Given the description of an element on the screen output the (x, y) to click on. 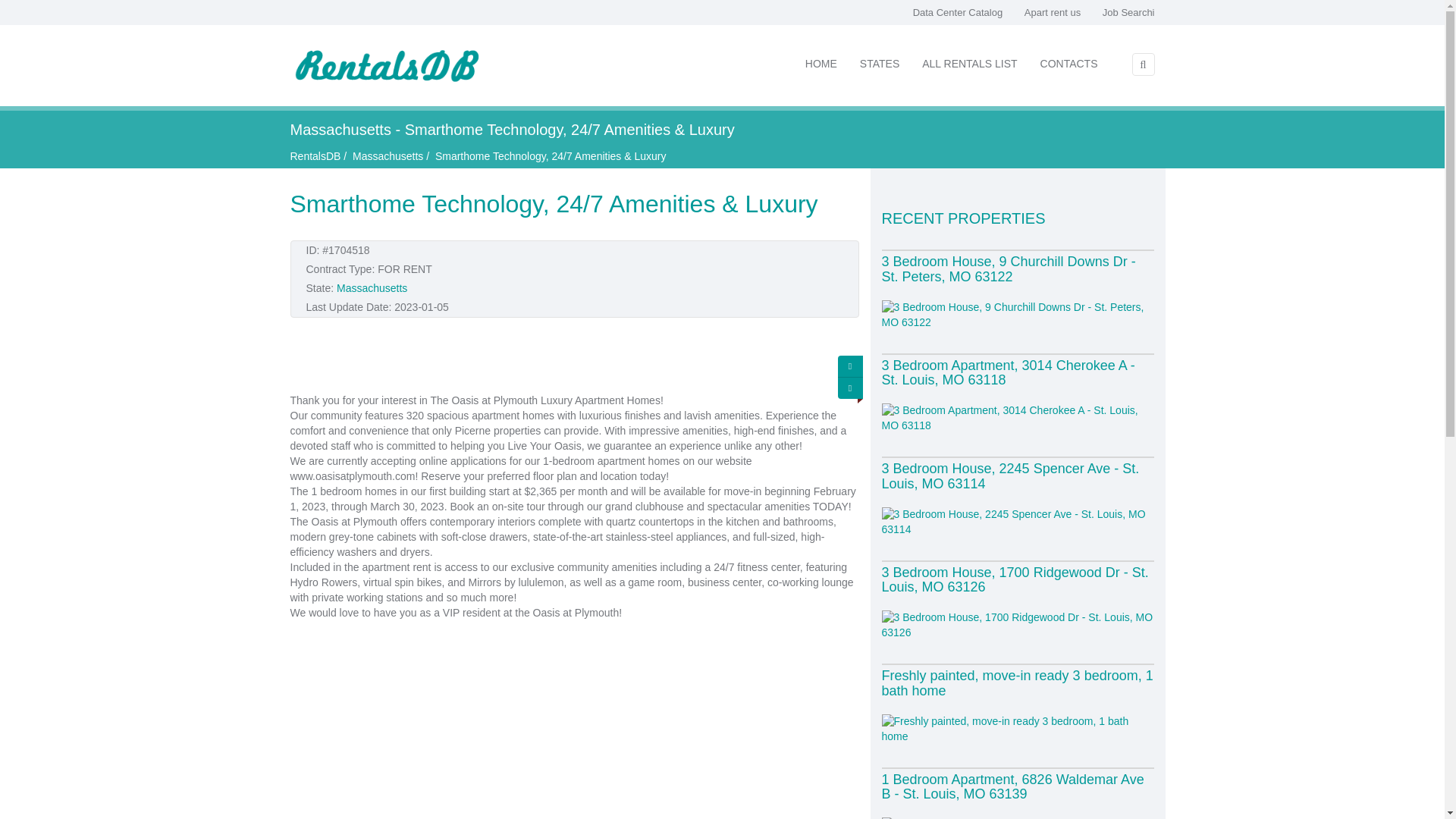
3 Bedroom House, 2245 Spencer Ave - St. Louis, MO 63114 (1009, 476)
Contacts (1069, 63)
3 Bedroom House, 9 Churchill Downs Dr - St. Peters, MO 63122 (1007, 268)
CONTACTS (1069, 63)
Massachusetts (387, 155)
ALL RENTALS LIST (969, 63)
Job Searchi (1128, 12)
All Rentals List (969, 63)
Freshly painted, move-in ready 3 bedroom, 1 bath home (1016, 683)
